Given the description of an element on the screen output the (x, y) to click on. 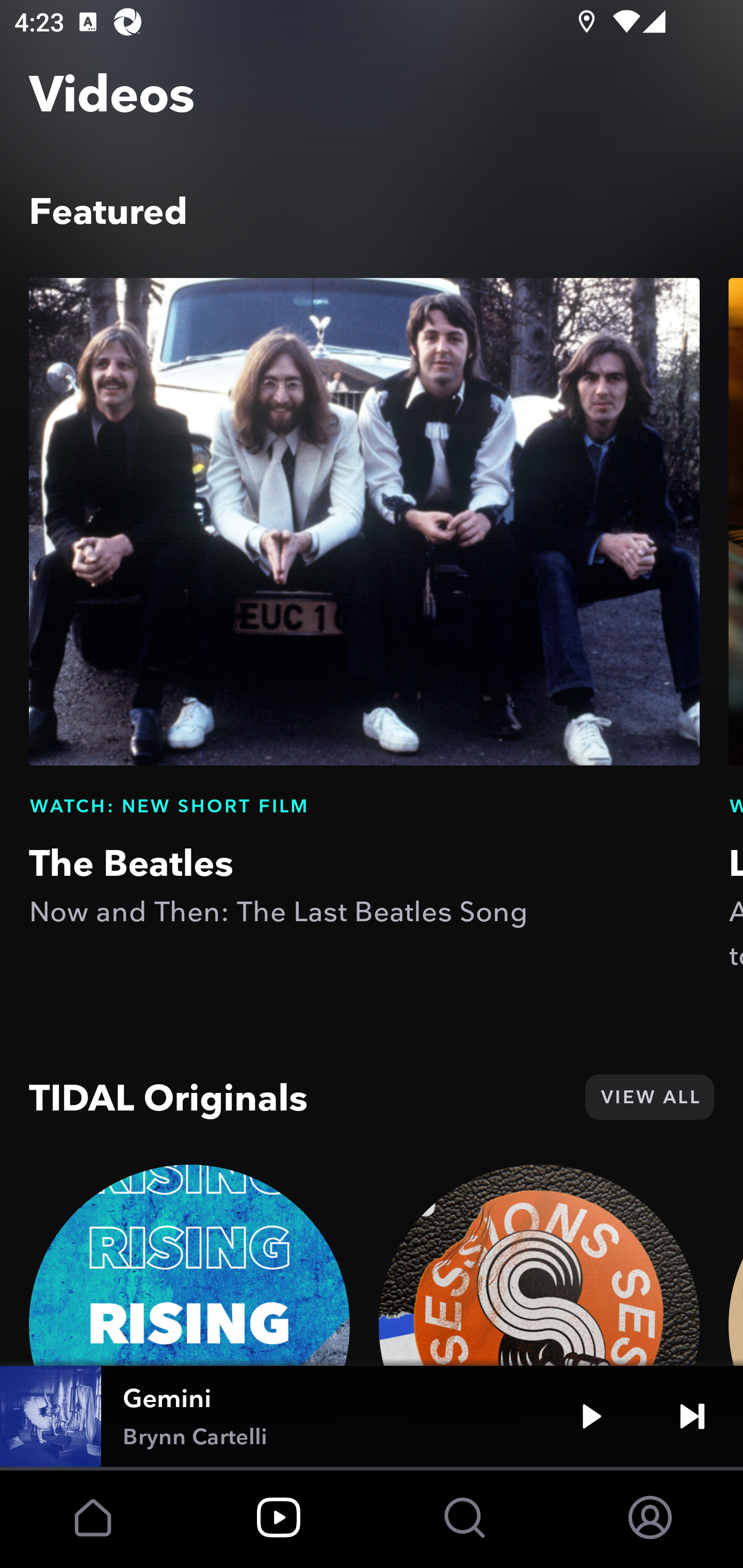
VIEW ALL (649, 1096)
Gemini Brynn Cartelli Play (371, 1416)
Play (590, 1416)
